Given the description of an element on the screen output the (x, y) to click on. 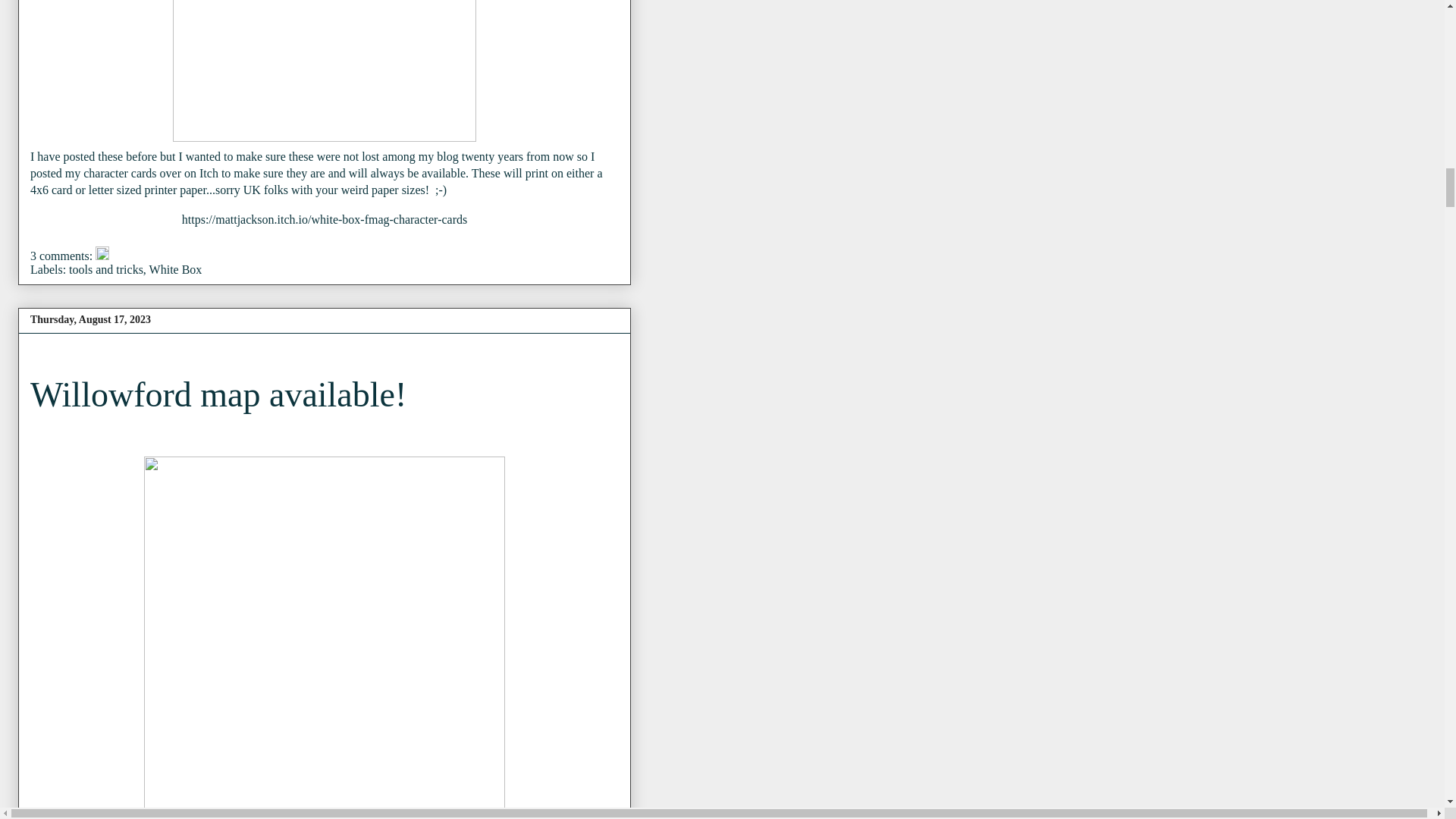
Edit Post (102, 255)
Willowford map available! (218, 394)
White Box (175, 269)
3 comments: (63, 255)
tools and tricks (105, 269)
